Given the description of an element on the screen output the (x, y) to click on. 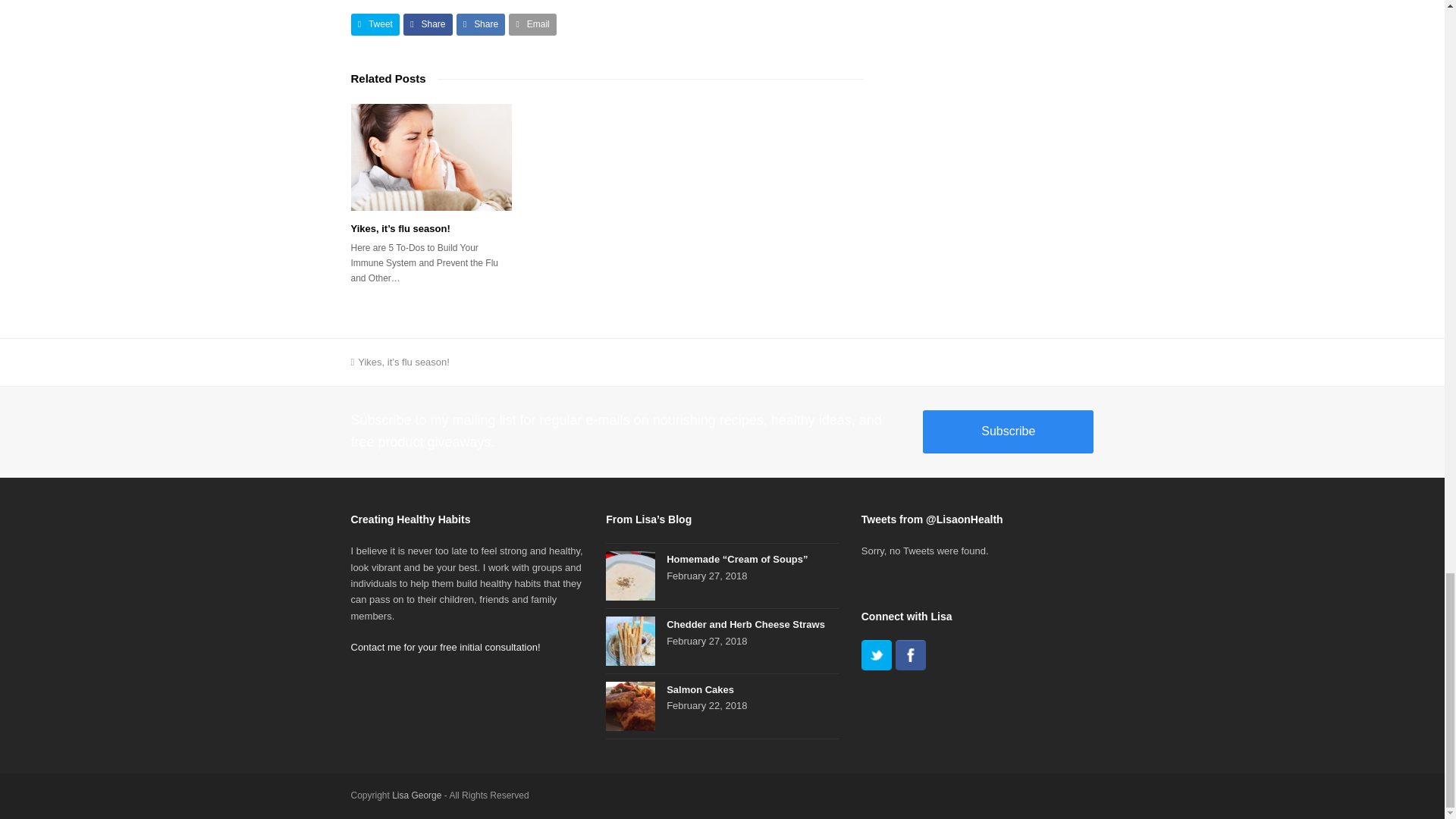
Salmon Cakes (630, 706)
Chedder and Herb Cheese Straws (630, 640)
Twitter (876, 654)
Facebook (910, 654)
